Given the description of an element on the screen output the (x, y) to click on. 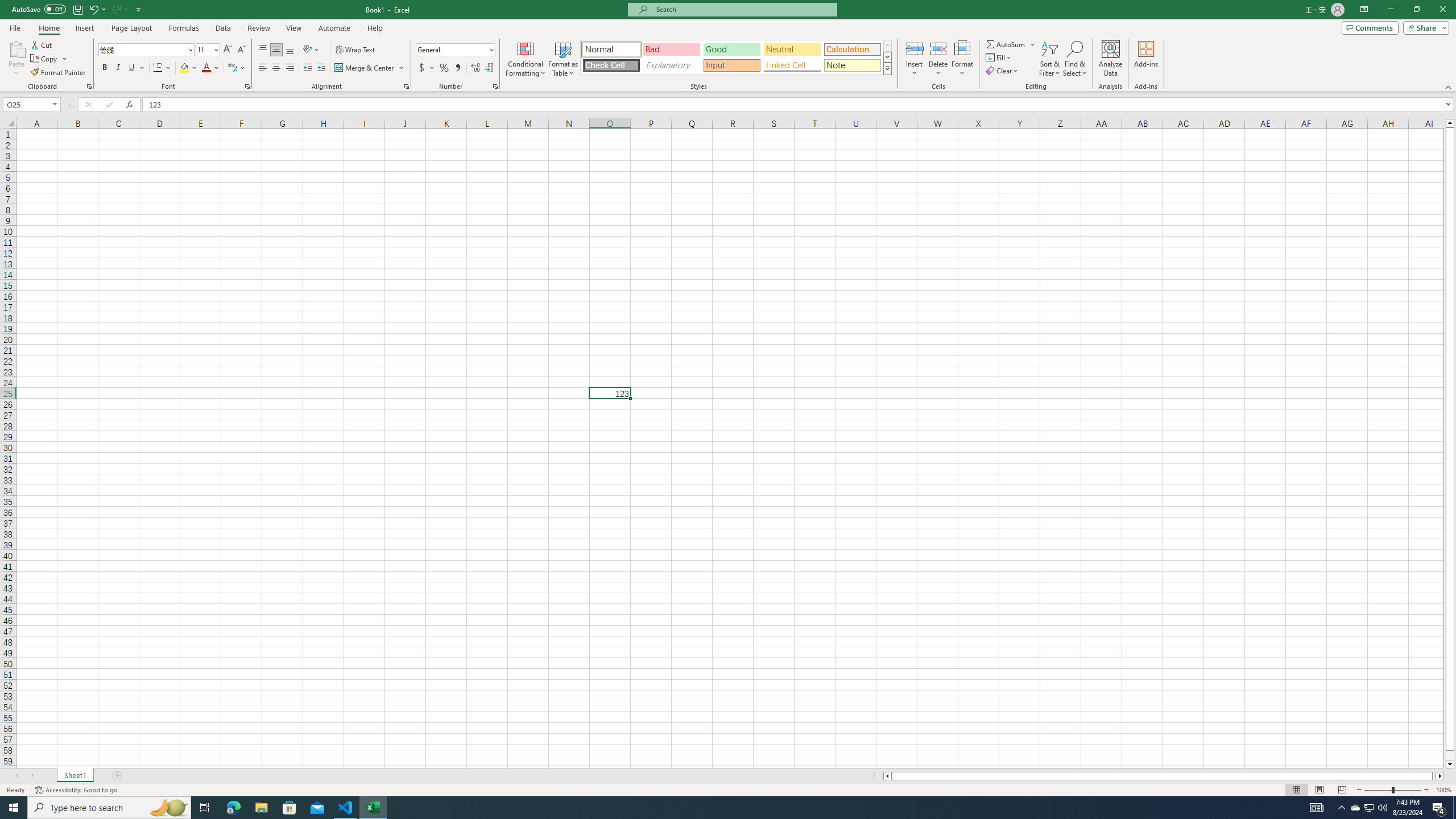
Increase Decimal (474, 67)
Increase Font Size (227, 49)
Merge & Center (369, 67)
Paste (16, 58)
Class: NetUIImage (887, 68)
Analyze Data (1110, 58)
Insert (914, 58)
Borders (162, 67)
File Tab (15, 27)
Delete Cells... (938, 48)
Bold (104, 67)
Column left (886, 775)
Ribbon Display Options (1364, 9)
Font (147, 49)
Conditional Formatting (525, 58)
